Given the description of an element on the screen output the (x, y) to click on. 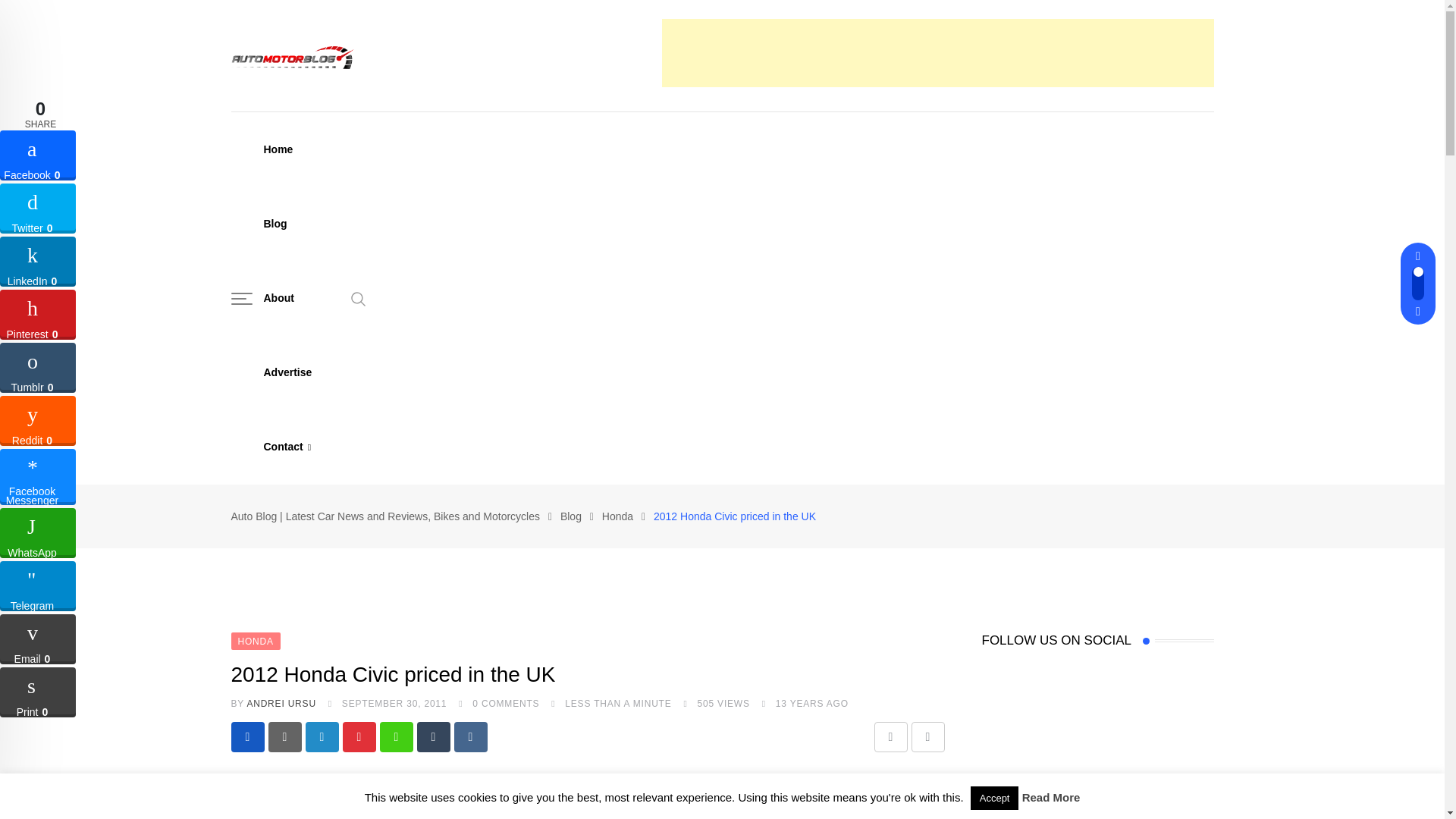
Posts by Andrei Ursu (280, 703)
Advertisement (936, 52)
Blog (274, 223)
Go to Blog. (570, 516)
About (277, 297)
on (986, 512)
Home (277, 149)
Contact (286, 446)
Advertise (287, 371)
Sign Up Now (1027, 551)
Go to the Honda Category archives. (617, 516)
